Given the description of an element on the screen output the (x, y) to click on. 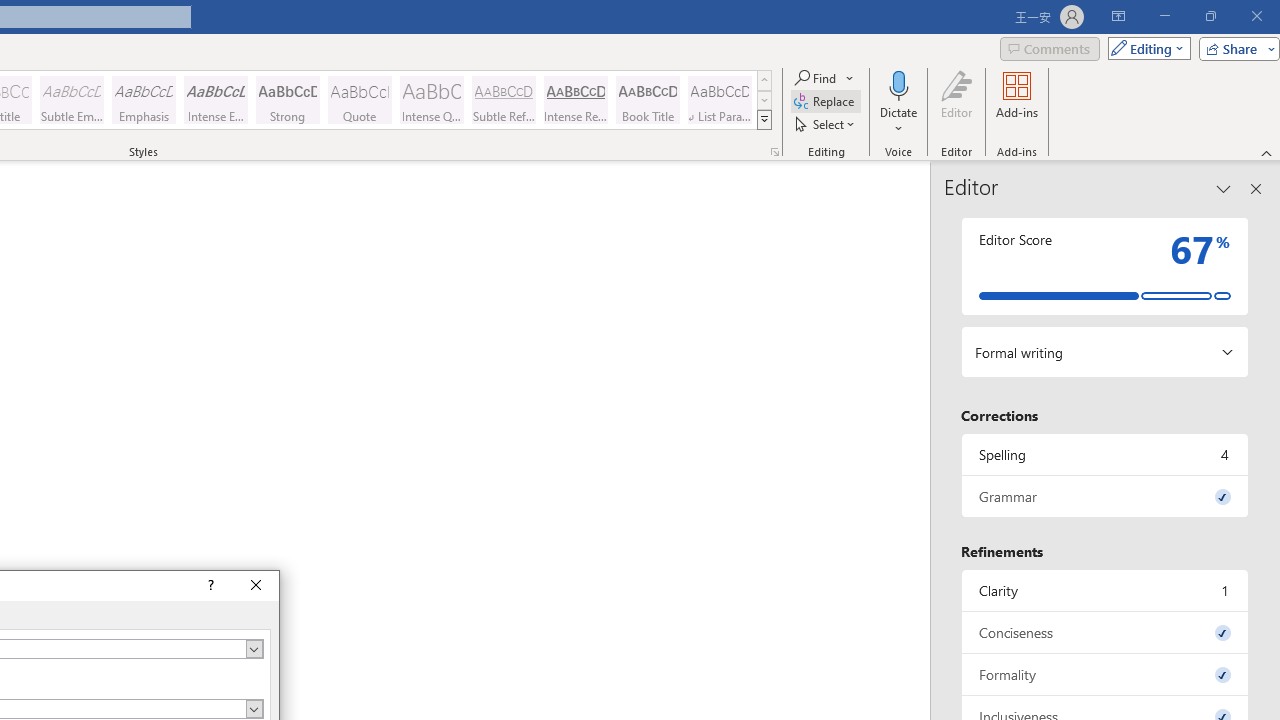
Formality, 0 issues. Press space or enter to review items. (1105, 673)
Spelling, 4 issues. Press space or enter to review items. (1105, 454)
Subtle Emphasis (71, 100)
Quote (359, 100)
Book Title (647, 100)
Subtle Reference (504, 100)
Emphasis (143, 100)
